Given the description of an element on the screen output the (x, y) to click on. 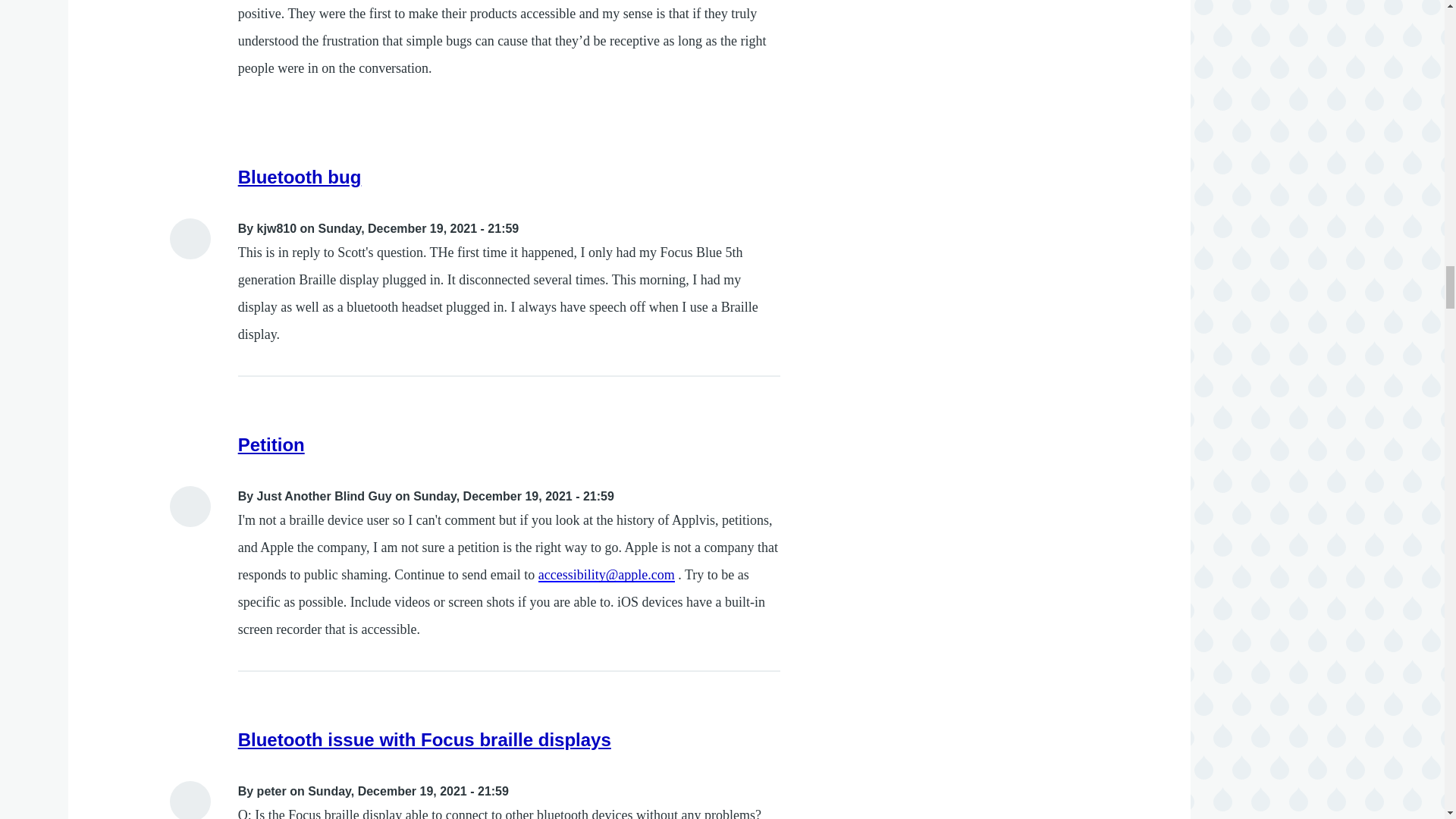
Bluetooth issue with Focus braille displays (424, 739)
Bluetooth bug (299, 177)
Petition (271, 444)
